Given the description of an element on the screen output the (x, y) to click on. 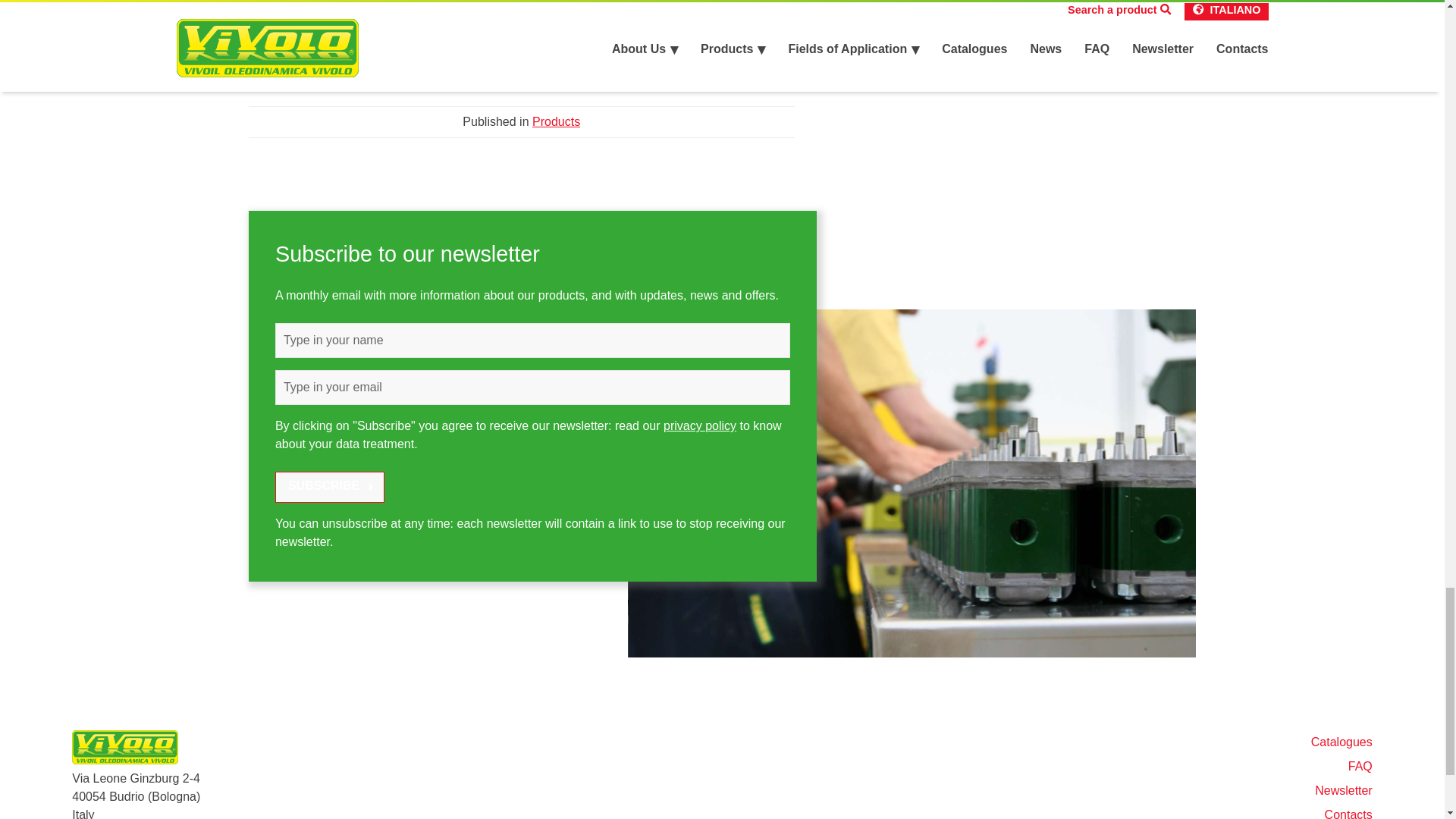
Subscribe (329, 486)
catalogues (342, 60)
Products (555, 121)
